Given the description of an element on the screen output the (x, y) to click on. 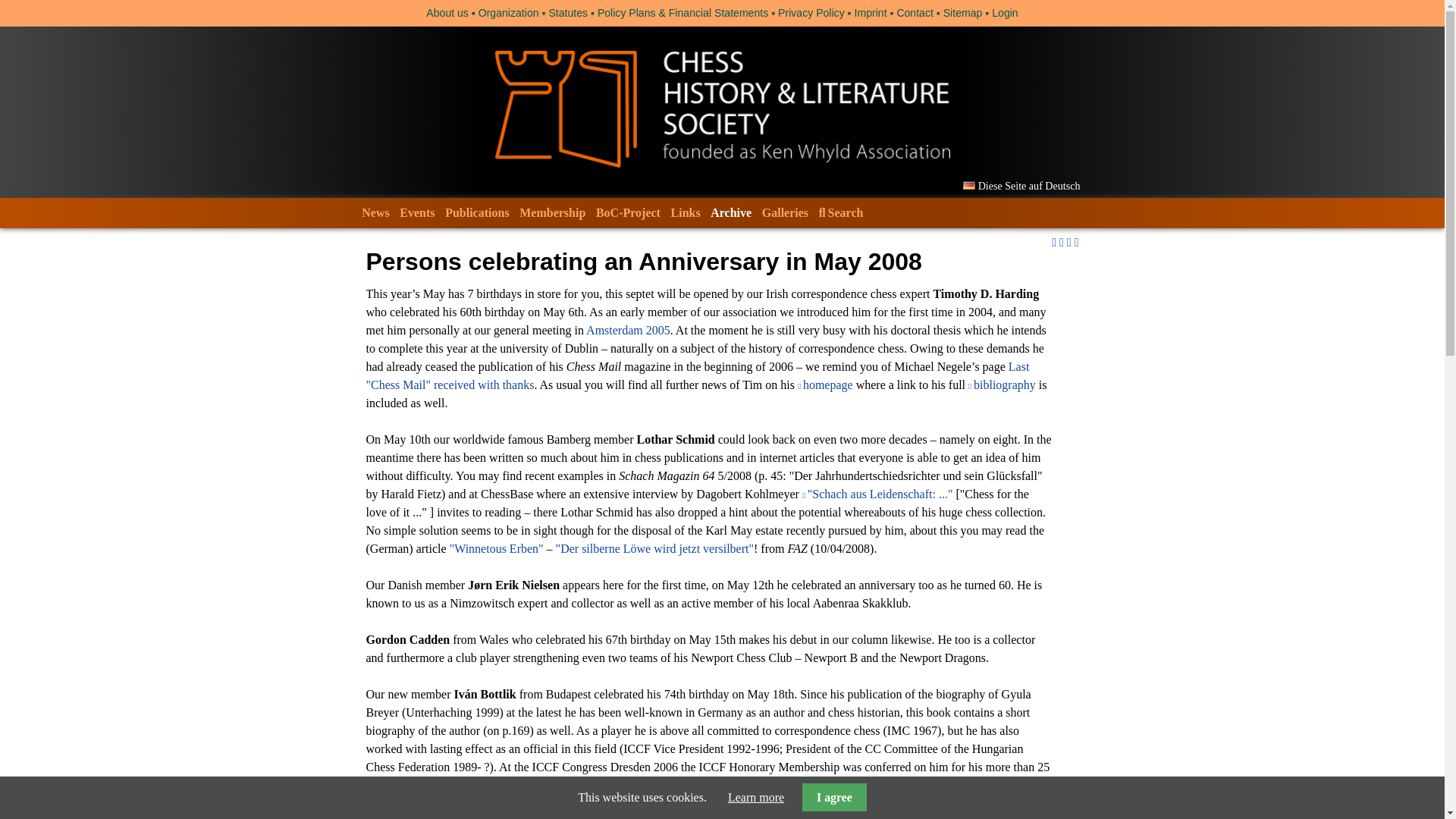
Organization (508, 12)
Mai 2008 (1021, 184)
Statutes (568, 12)
Links (685, 212)
Publications (476, 212)
Publications (476, 212)
News (375, 212)
Search (840, 212)
Events (417, 212)
Sitemap (962, 12)
Contact (914, 12)
Archive (730, 212)
Imprint (870, 12)
Login (1004, 12)
Statutes (568, 12)
